Given the description of an element on the screen output the (x, y) to click on. 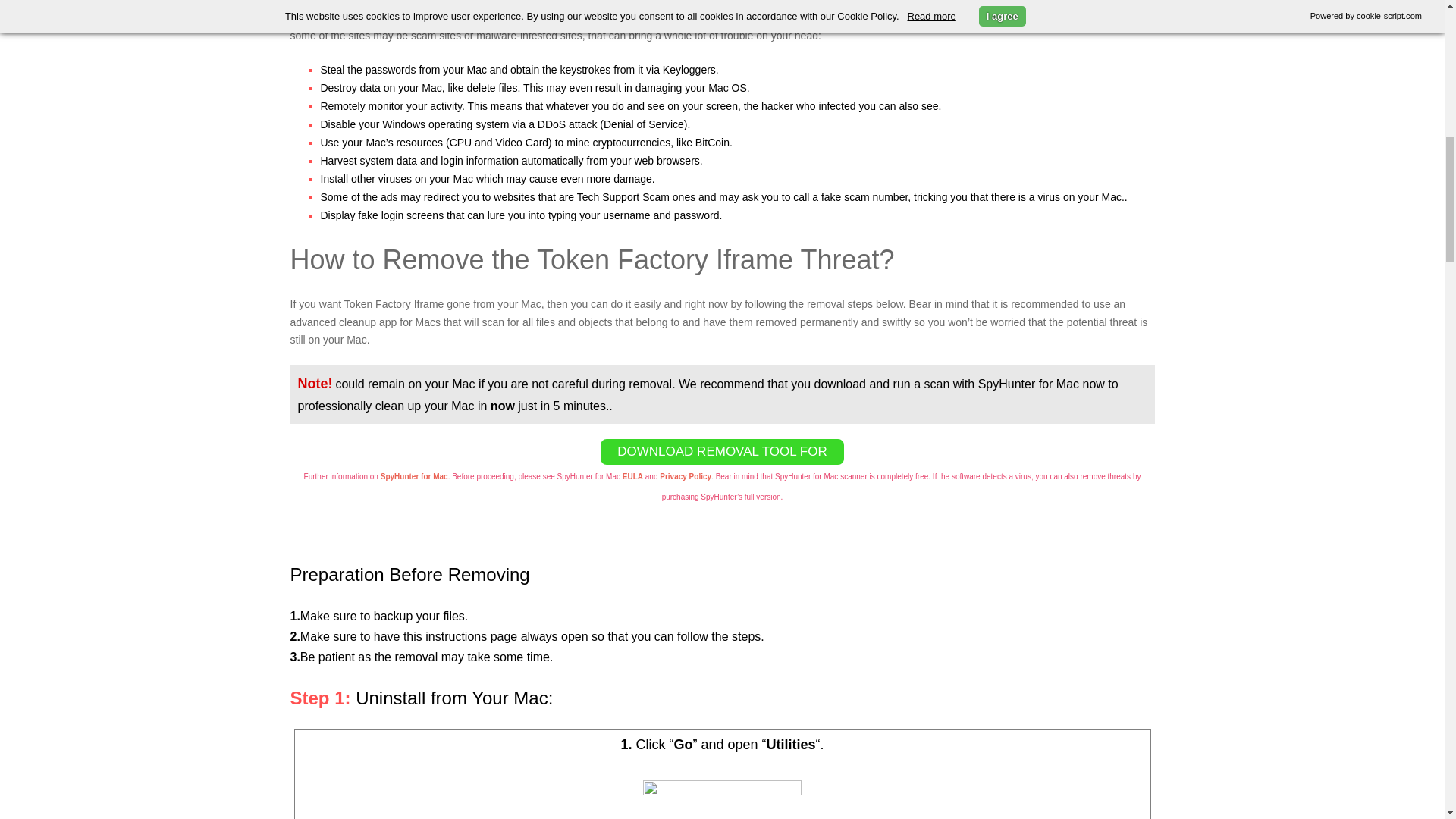
SpyHunter for Mac (414, 476)
Privacy Policy (685, 476)
EULA (633, 476)
DOWNLOAD REMOVAL TOOL FOR (721, 451)
